Given the description of an element on the screen output the (x, y) to click on. 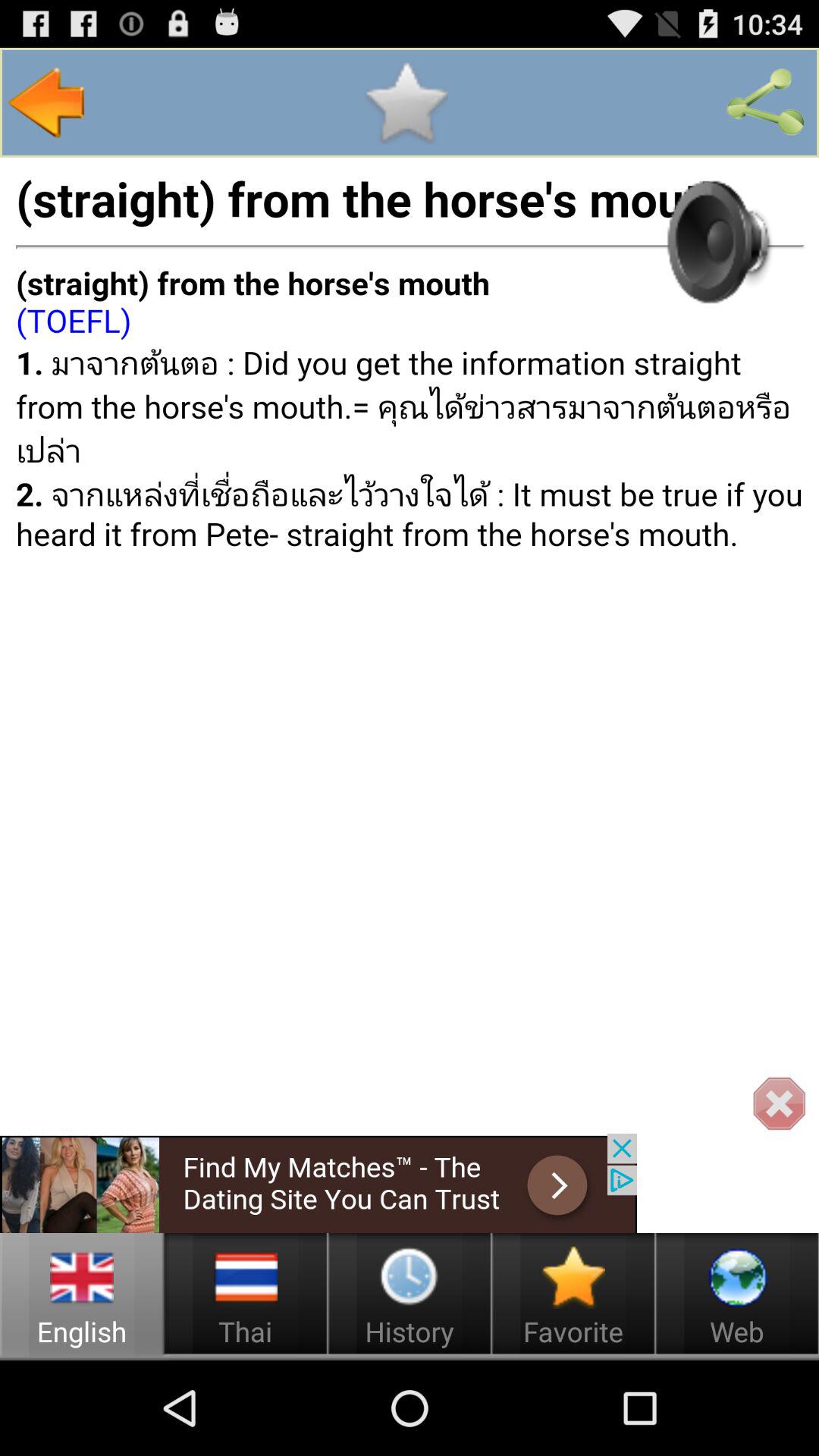
view advertisement (318, 1183)
